Given the description of an element on the screen output the (x, y) to click on. 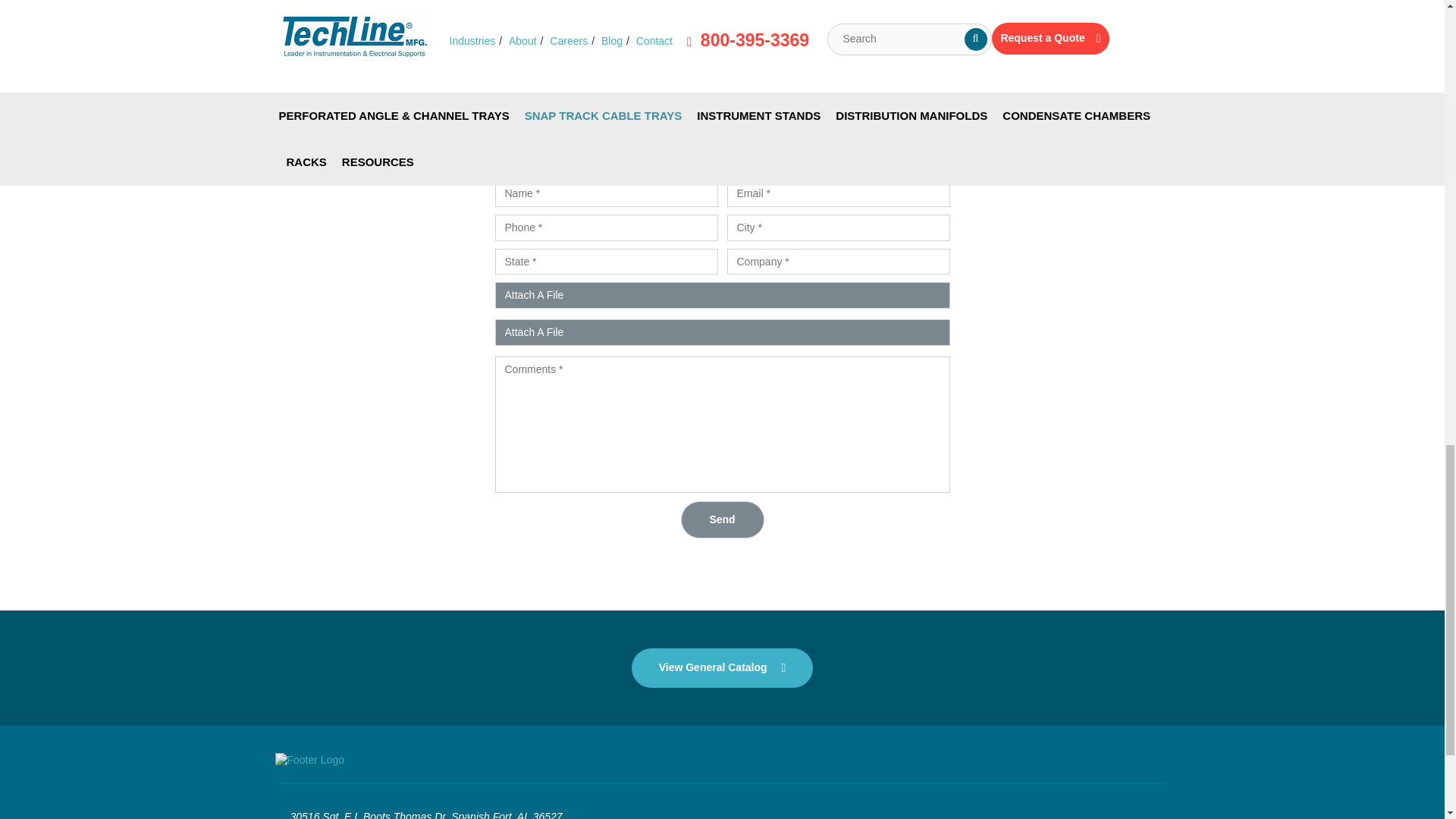
Send (722, 519)
Attach A File (722, 294)
Attach A File (722, 332)
